Given the description of an element on the screen output the (x, y) to click on. 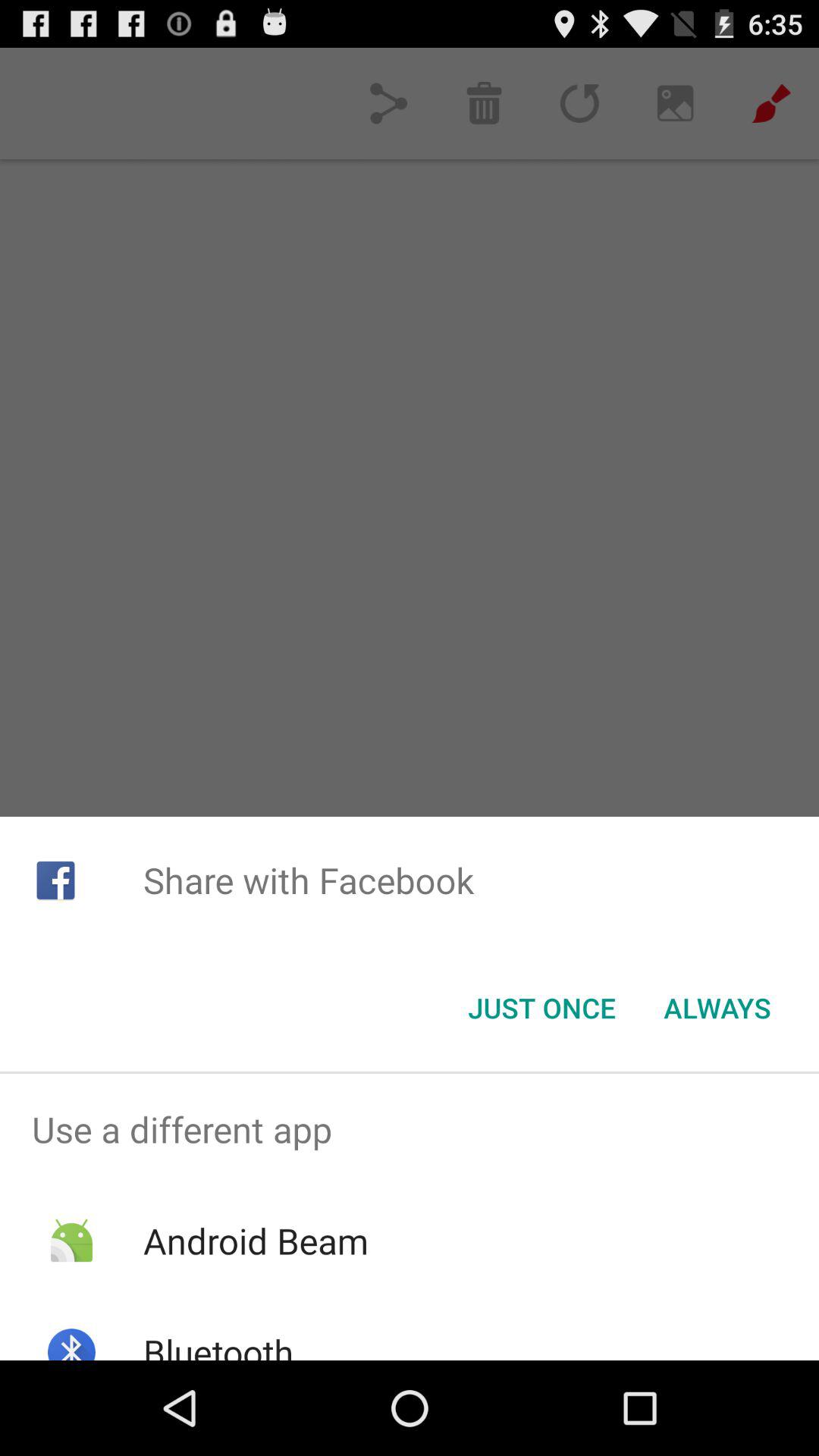
jump until use a different item (409, 1129)
